Given the description of an element on the screen output the (x, y) to click on. 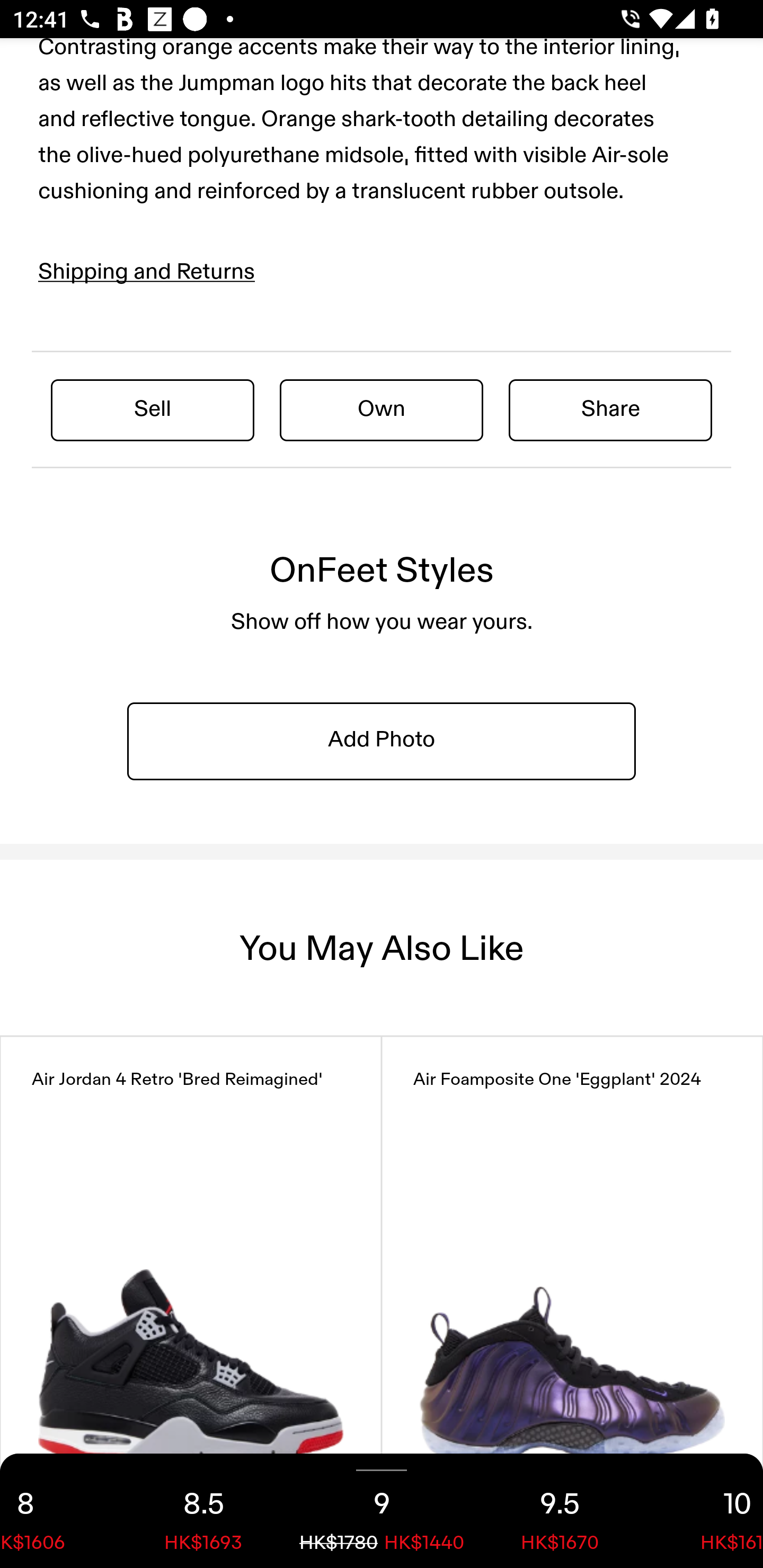
Shipping and Returns (146, 271)
Sell (152, 408)
Own (381, 408)
Share (609, 408)
Add Photo (381, 740)
Air Jordan 4 Retro 'Bred Reimagined' (190, 1266)
Air Foamposite One 'Eggplant' 2024 (572, 1266)
8 HK$1606 (57, 1510)
8.5 HK$1693 (203, 1510)
9 HK$1780 HK$1440 (381, 1510)
9.5 HK$1670 (559, 1510)
10 HK$1614 (705, 1510)
